Given the description of an element on the screen output the (x, y) to click on. 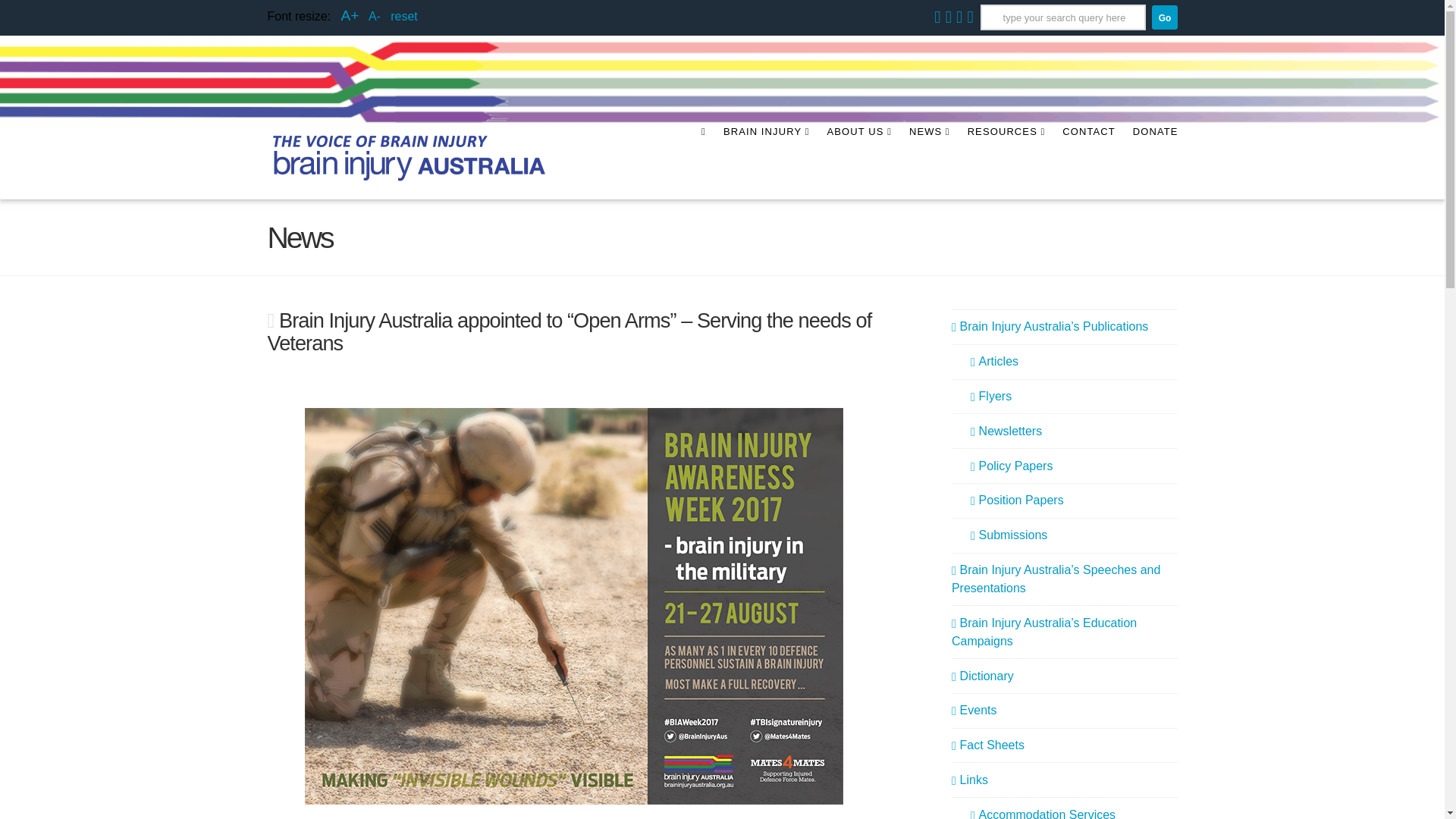
ABOUT US (858, 162)
decrease font size (374, 15)
increase font size (349, 15)
RESOURCES (1006, 162)
A- (374, 15)
reset font size (403, 15)
Go (1163, 16)
Go (1163, 16)
BRAIN INJURY (766, 162)
reset (403, 15)
